Given the description of an element on the screen output the (x, y) to click on. 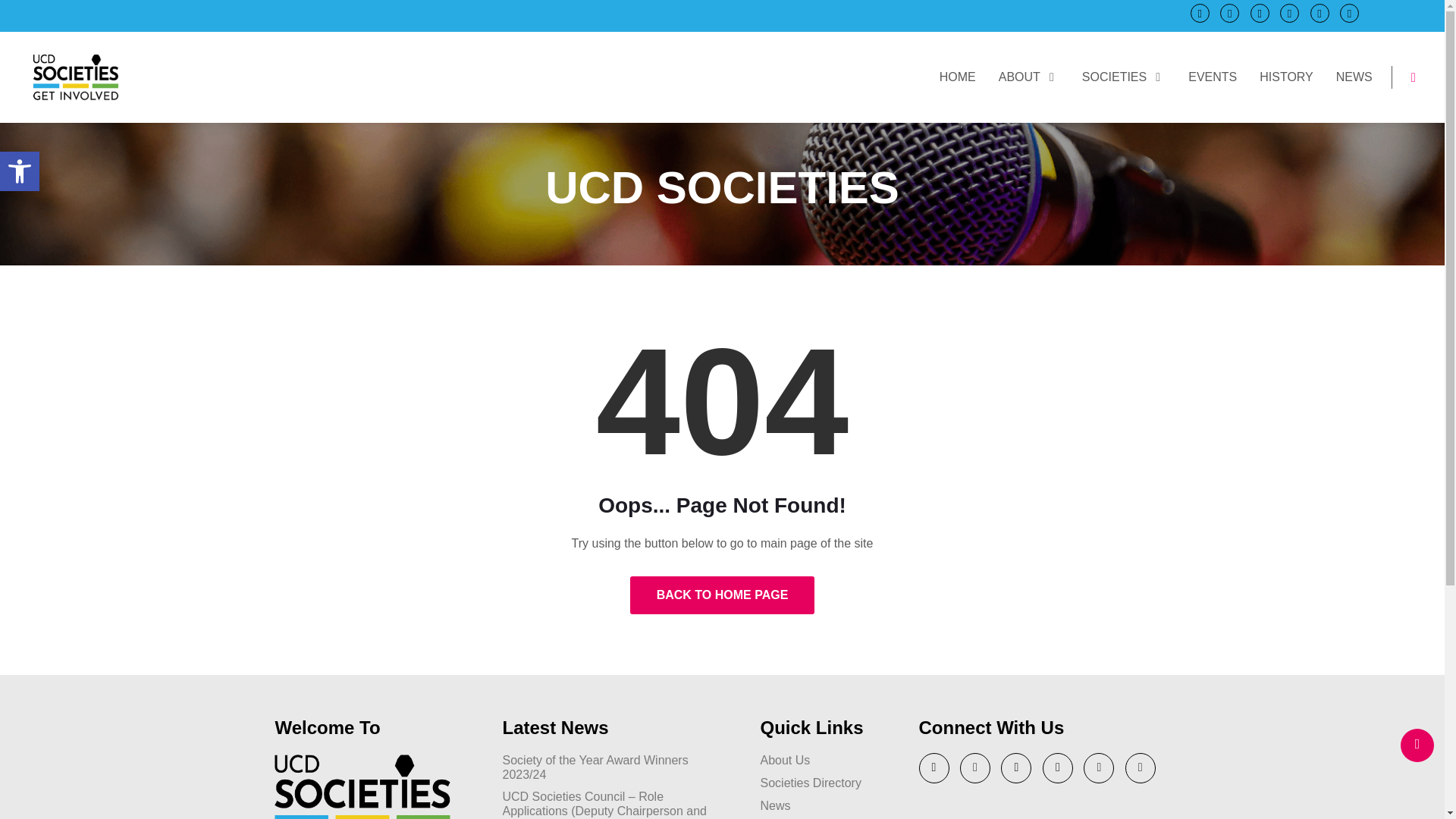
Accessibility Tools (19, 170)
HOME (957, 76)
Accessibility Tools (19, 170)
SOCIETIES (19, 170)
ABOUT (1123, 76)
